Given the description of an element on the screen output the (x, y) to click on. 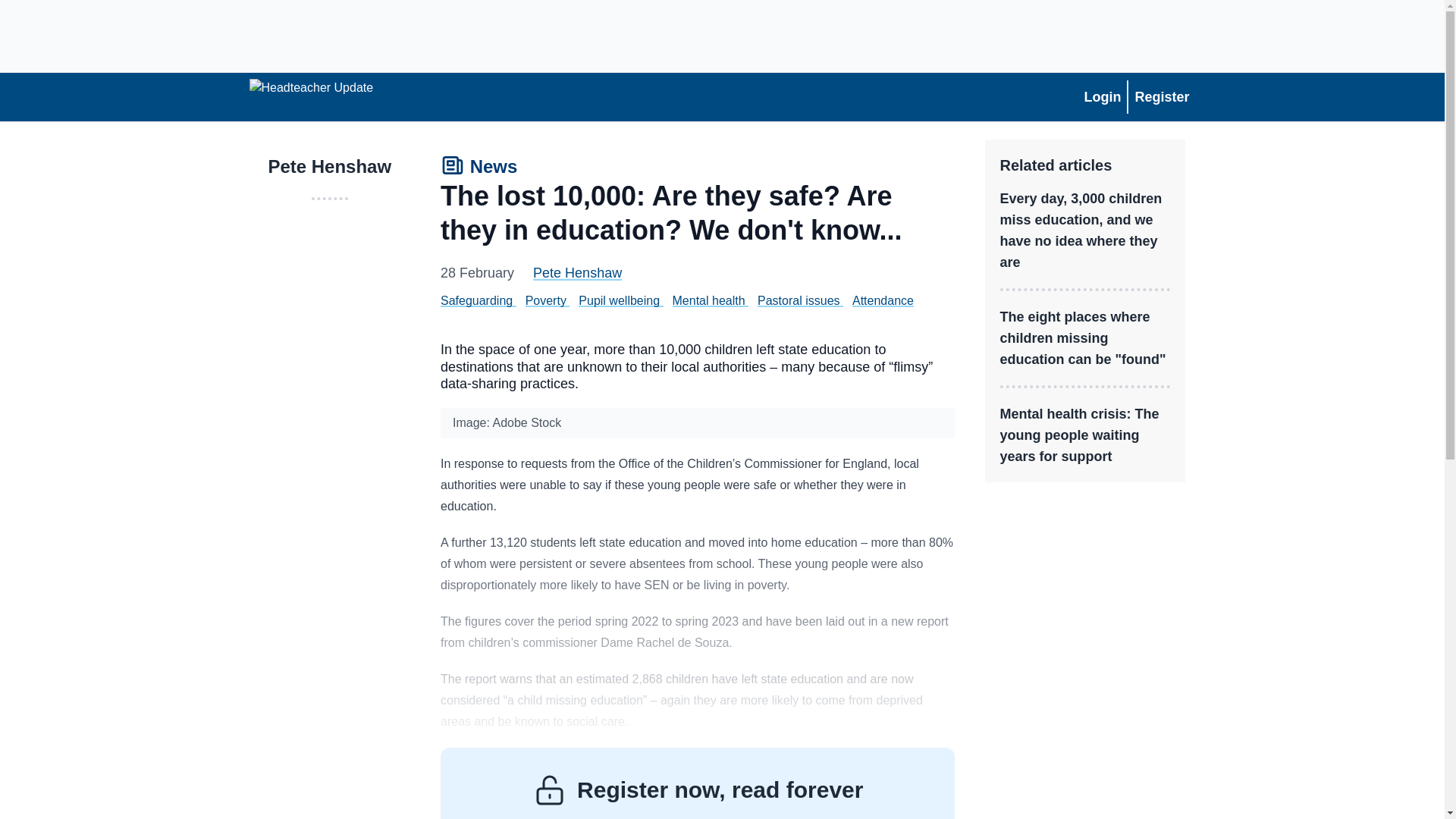
Attendance (882, 300)
Pupil wellbeing (618, 300)
Poverty (545, 300)
Safeguarding (476, 300)
Pete Henshaw (576, 272)
Mental health (708, 300)
Pastoral issues (798, 300)
News (478, 168)
Login (1101, 96)
Register (1160, 96)
